Given the description of an element on the screen output the (x, y) to click on. 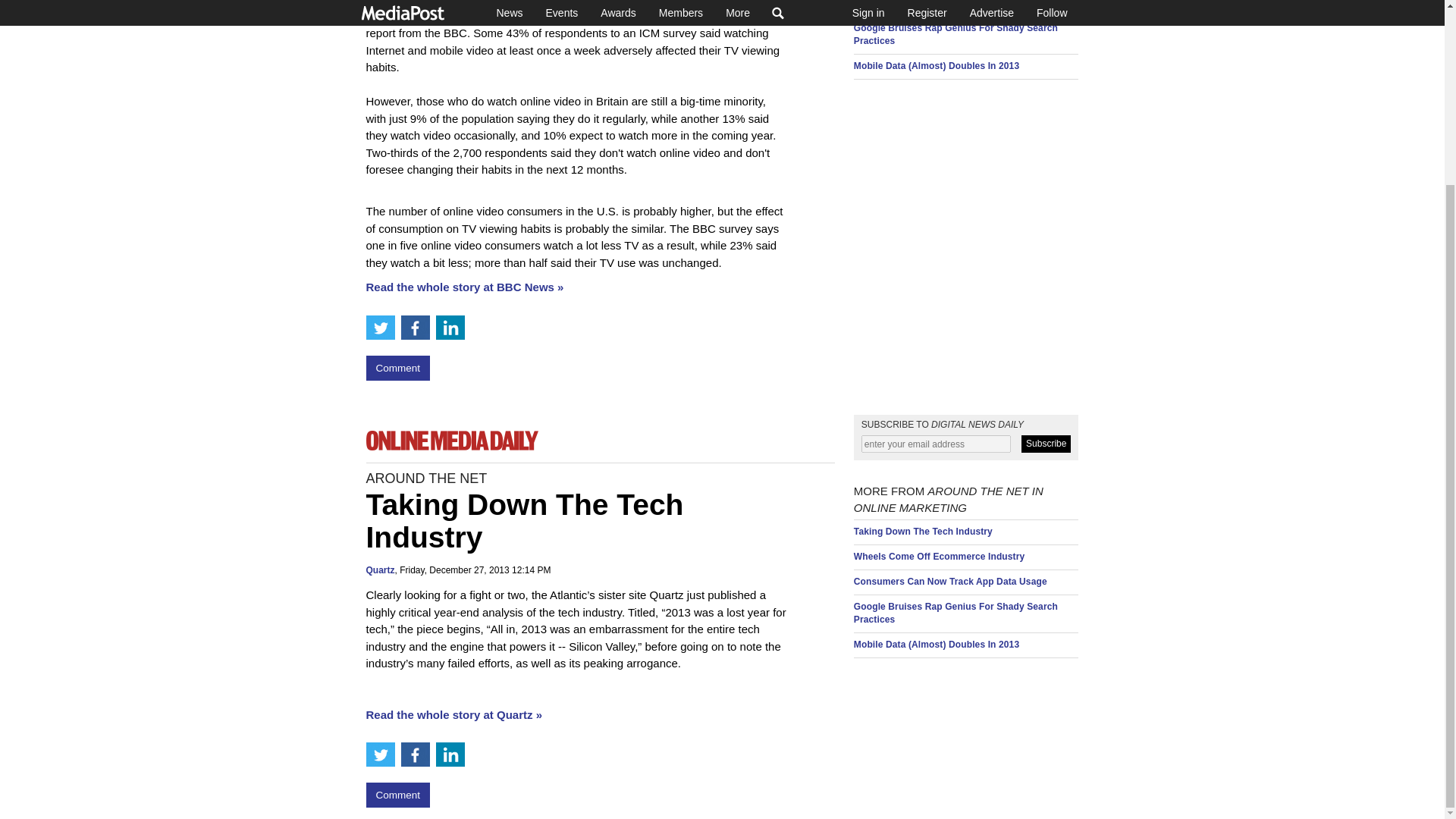
Share on LinkedIn (449, 327)
Subscribe (1046, 443)
Share on Twitter (379, 327)
Share on Facebook (414, 754)
Share on Twitter (379, 754)
Share on Facebook (414, 327)
Share on LinkedIn (449, 754)
